Given the description of an element on the screen output the (x, y) to click on. 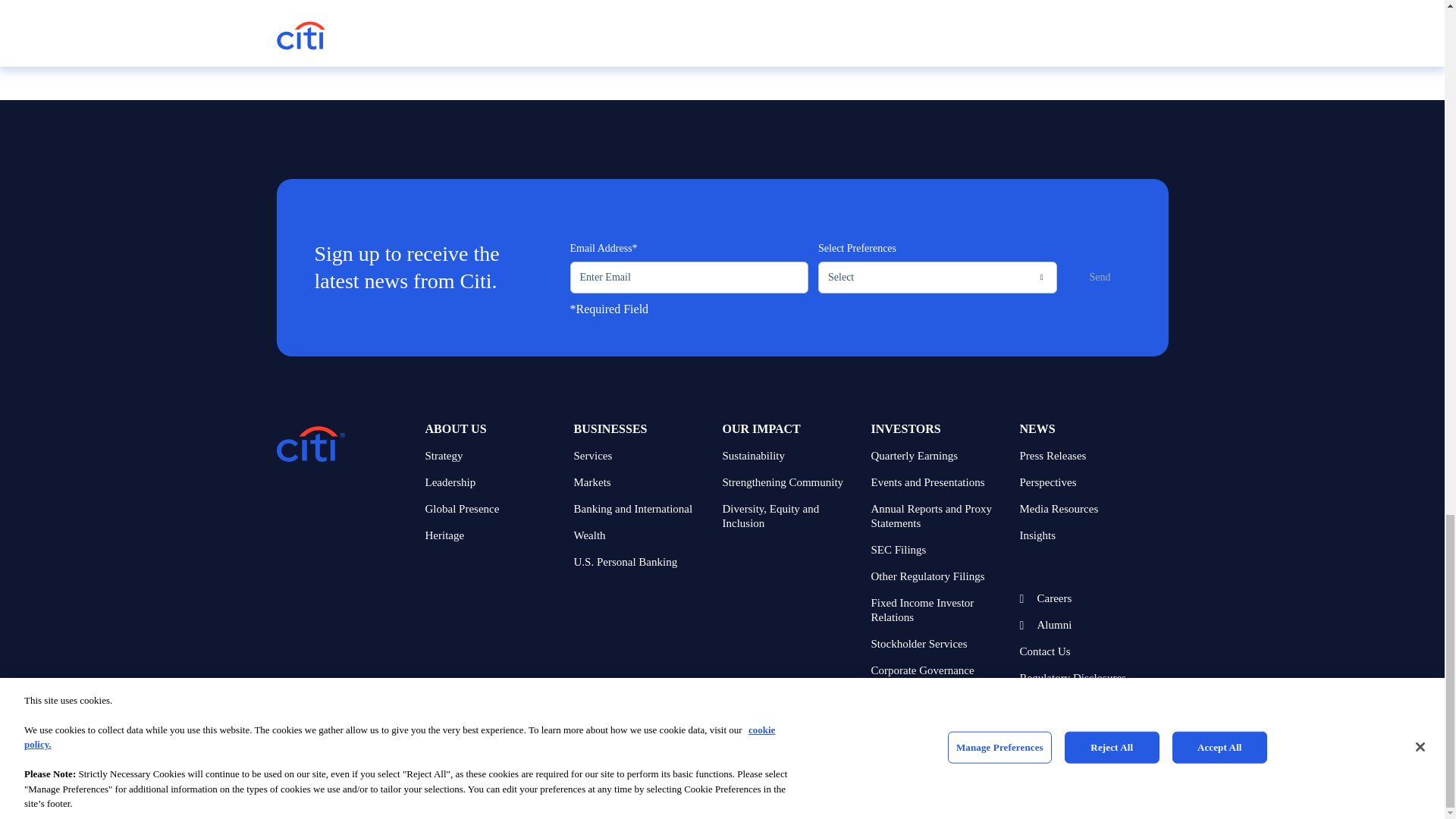
BUSINESSES (609, 428)
Heritage (492, 535)
Send (1100, 277)
Stockholder Services (938, 644)
Annual Reports and Proxy Statements (938, 516)
Events and Presentations (938, 482)
Strengthening Community (790, 482)
INVESTORS (905, 428)
ABOUT US (455, 428)
U.S. Personal Banking (641, 562)
